Given the description of an element on the screen output the (x, y) to click on. 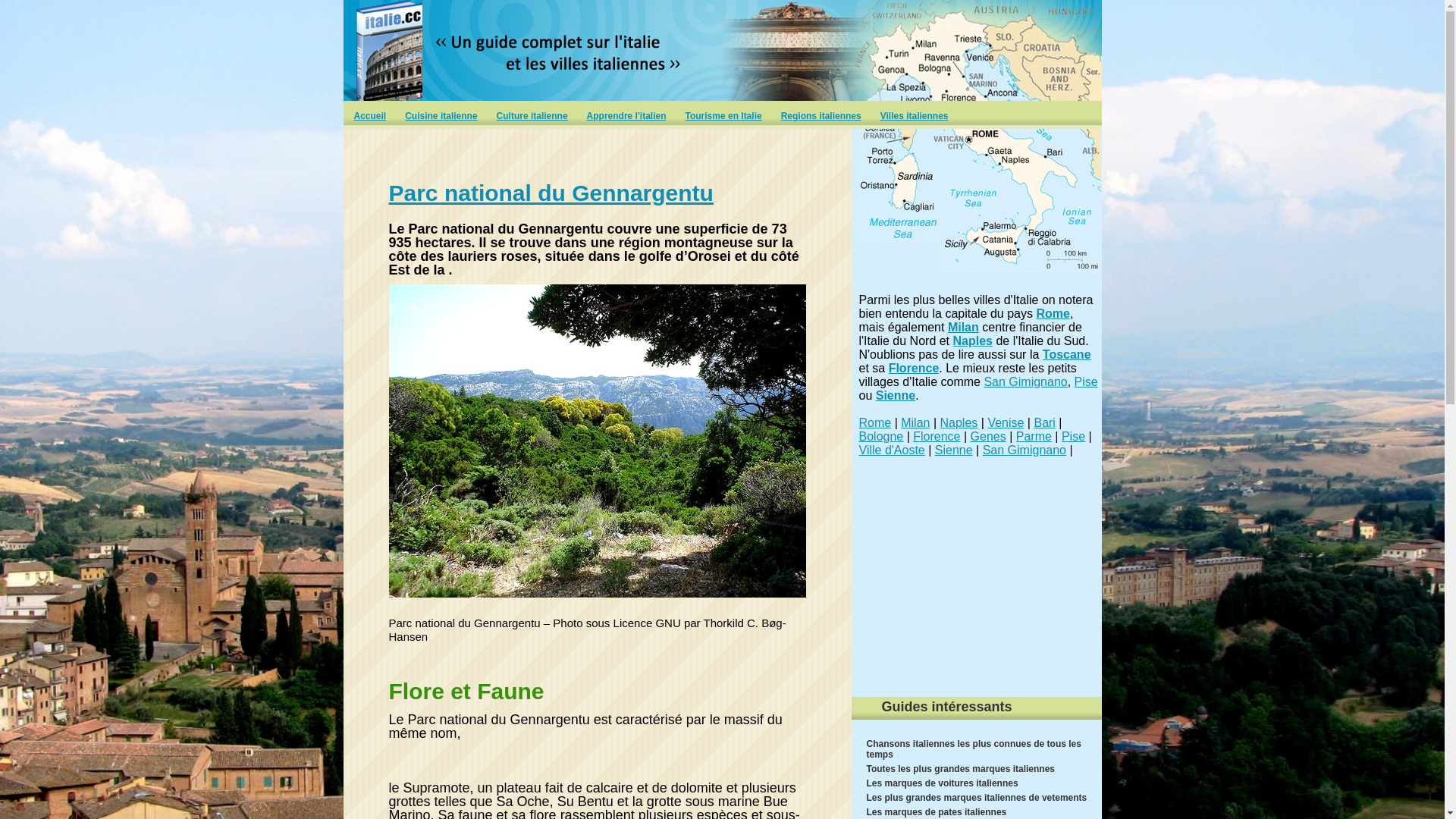
Bari Element type: text (1043, 422)
Florence Element type: text (936, 435)
Cuisine italienne Element type: text (440, 117)
Les marques de voitures italiennes Element type: text (941, 783)
San Gimignano Element type: text (1024, 449)
Ville d'Aoste Element type: text (891, 449)
Bologne Element type: text (880, 435)
Sienne Element type: text (953, 449)
Advertisement Element type: hover (975, 592)
Villes italiennes Element type: text (914, 117)
Sienne Element type: text (895, 395)
Toutes les plus grandes marques italiennes Element type: text (960, 768)
Tourisme en Italie Element type: text (723, 117)
Parc national du Gennargentu Element type: text (550, 192)
Culture italienne Element type: text (532, 117)
Apprendre l'italien Element type: text (626, 117)
Naples Element type: text (972, 340)
Les marques de pates italiennes Element type: text (936, 811)
Genes Element type: text (988, 435)
Parme Element type: text (1033, 435)
Naples Element type: text (959, 422)
Toscane Element type: text (1066, 354)
Milan Element type: text (963, 326)
Pise Element type: text (1073, 435)
Milan Element type: text (914, 422)
Florence Element type: text (913, 367)
Chansons italiennes les plus connues de tous les temps Element type: text (973, 748)
Rome Element type: text (1052, 313)
Parc national du Gennargentu Element type: hover (598, 446)
Venise Element type: text (1005, 422)
Regions italiennes Element type: text (821, 117)
Pise Element type: text (1086, 381)
Accueil Element type: text (369, 117)
Rome Element type: text (874, 422)
San Gimignano Element type: text (1024, 381)
Les plus grandes marques italiennes de vetements Element type: text (976, 797)
